Given the description of an element on the screen output the (x, y) to click on. 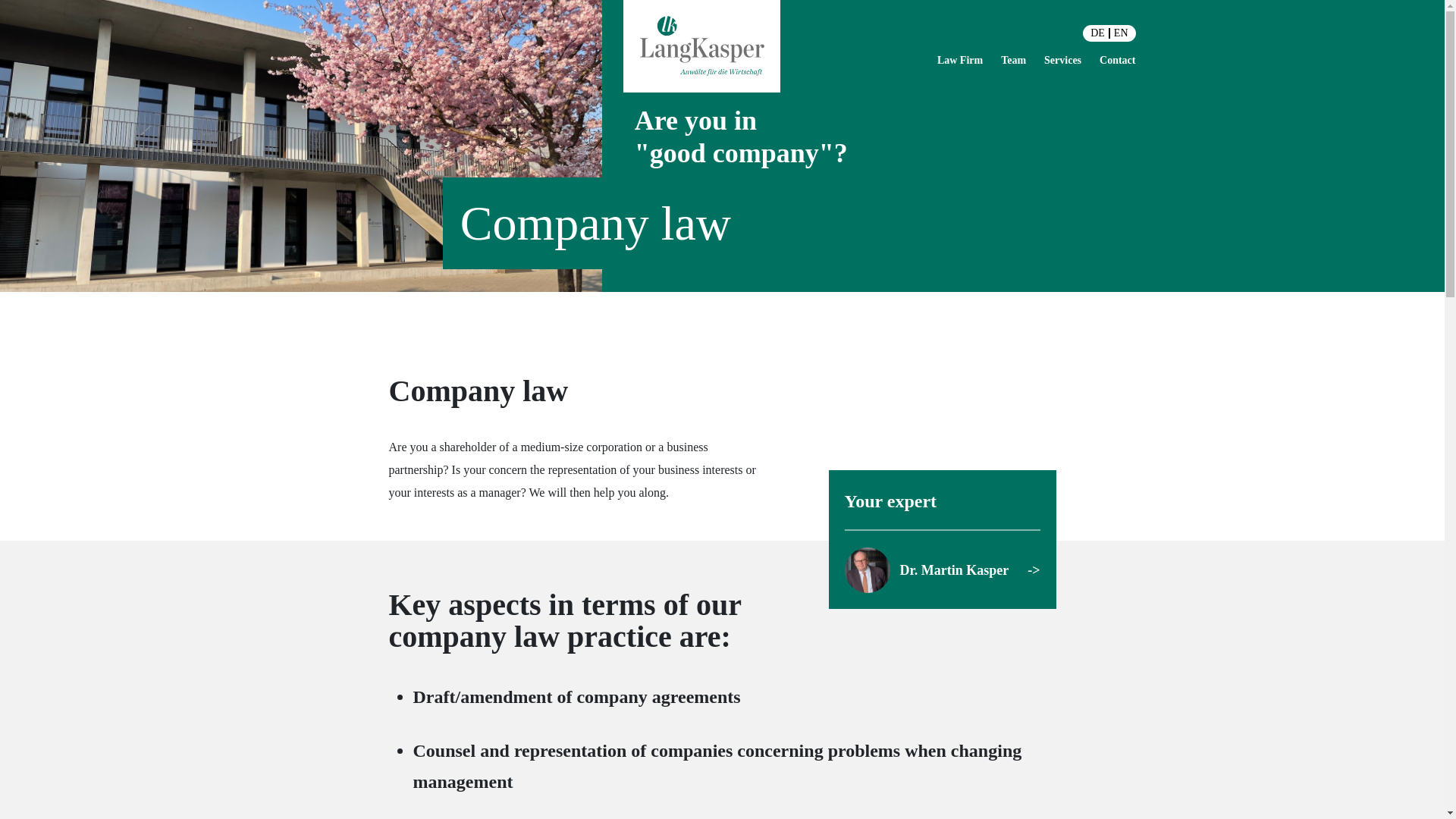
Team (1013, 60)
Services (1062, 60)
EN (1120, 32)
Dr. Martin Kasper (942, 569)
Contact (1117, 60)
Law Firm (959, 60)
DE (1097, 32)
